Given the description of an element on the screen output the (x, y) to click on. 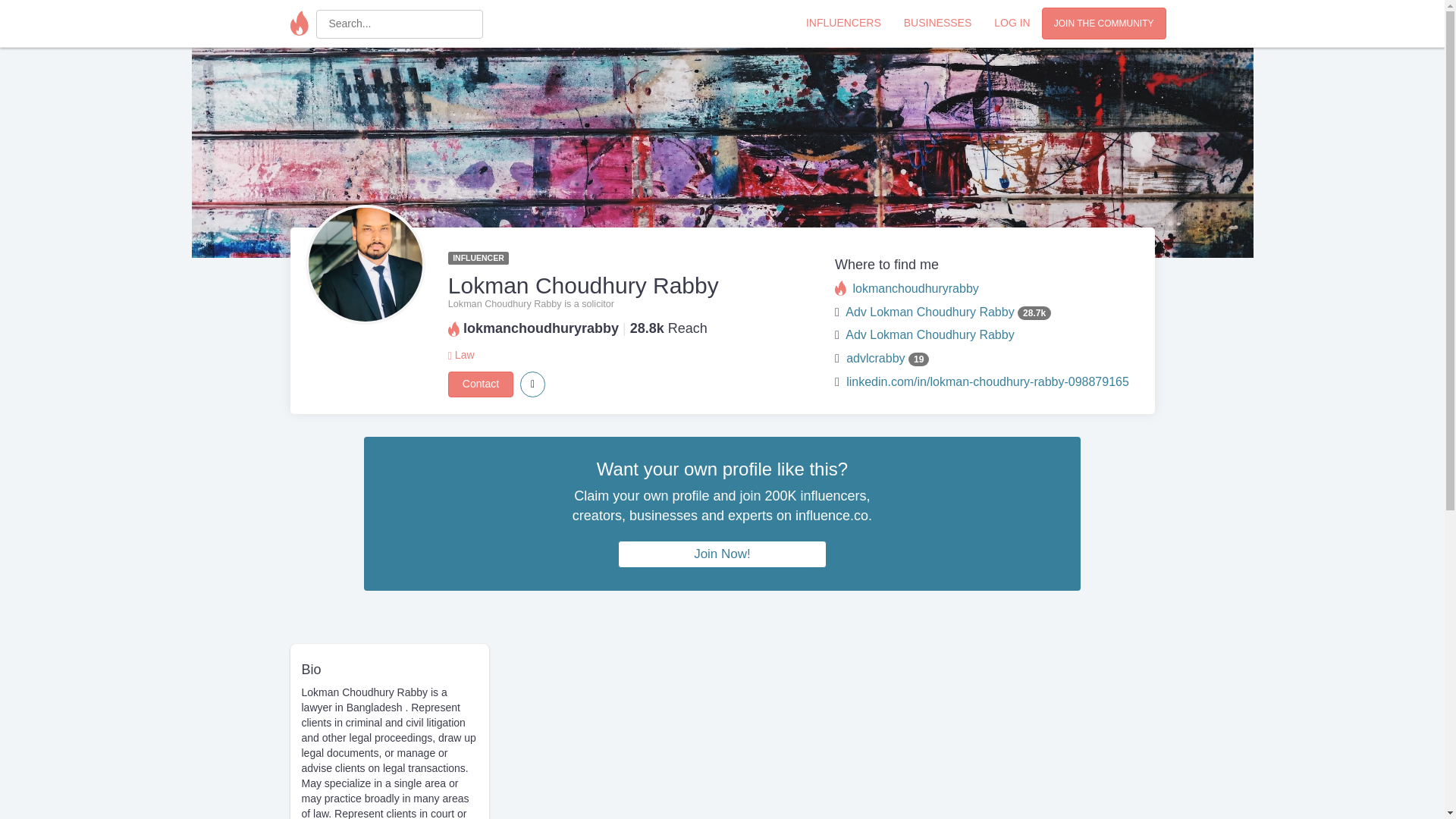
Adv Lokman Choudhury Rabby (929, 334)
advlcrabby (874, 358)
lokmanchoudhuryrabby (914, 287)
JOIN THE COMMUNITY (1104, 23)
LOG IN (1011, 22)
Law (464, 354)
Join Now! (722, 554)
Contact (480, 384)
Adv Lokman Choudhury Rabby (929, 311)
INFLUENCERS (843, 22)
BUSINESSES (937, 22)
